Given the description of an element on the screen output the (x, y) to click on. 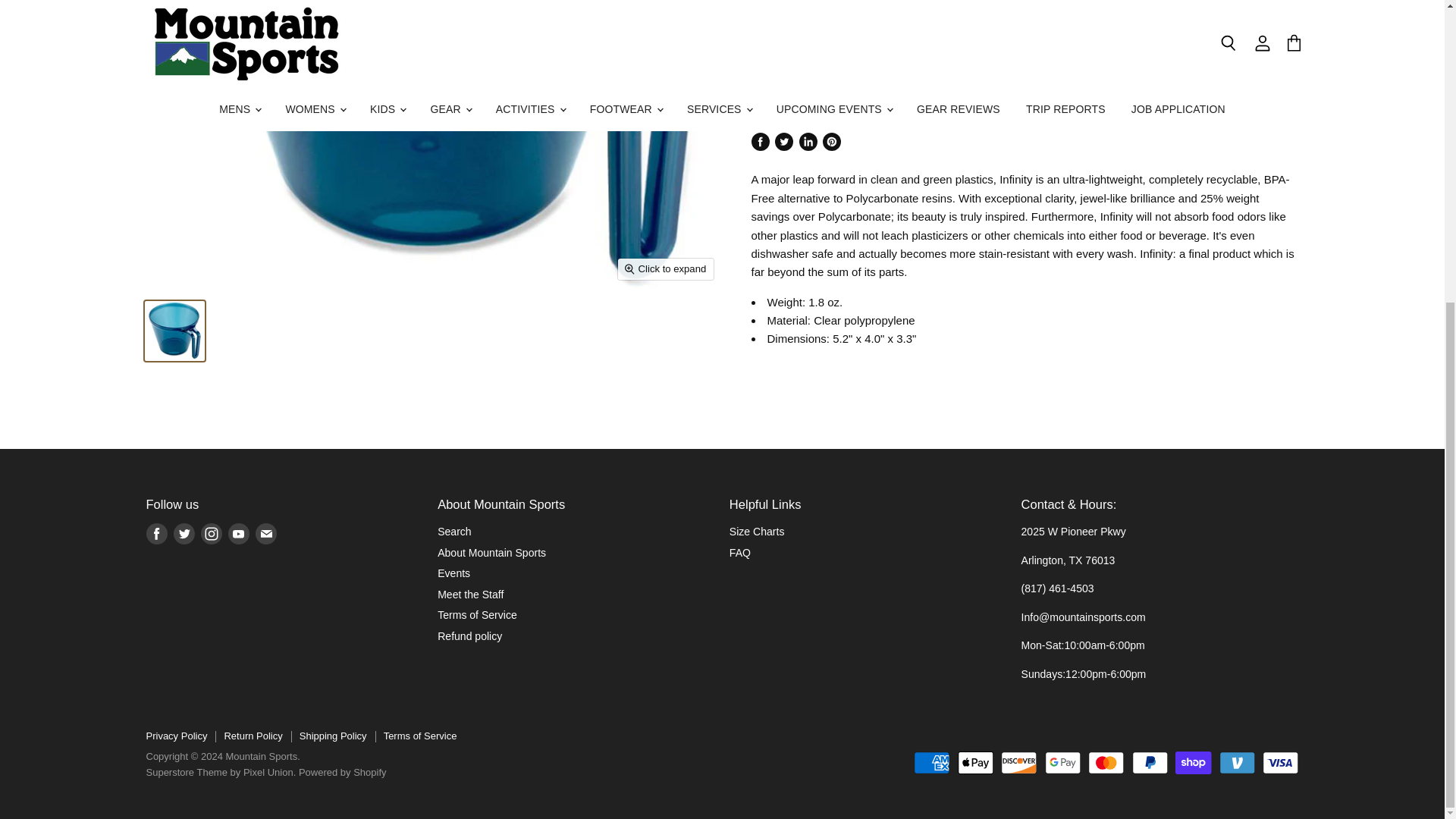
E-mail (265, 533)
Twitter (183, 533)
Instagram (210, 533)
Youtube (237, 533)
Facebook (156, 533)
